Given the description of an element on the screen output the (x, y) to click on. 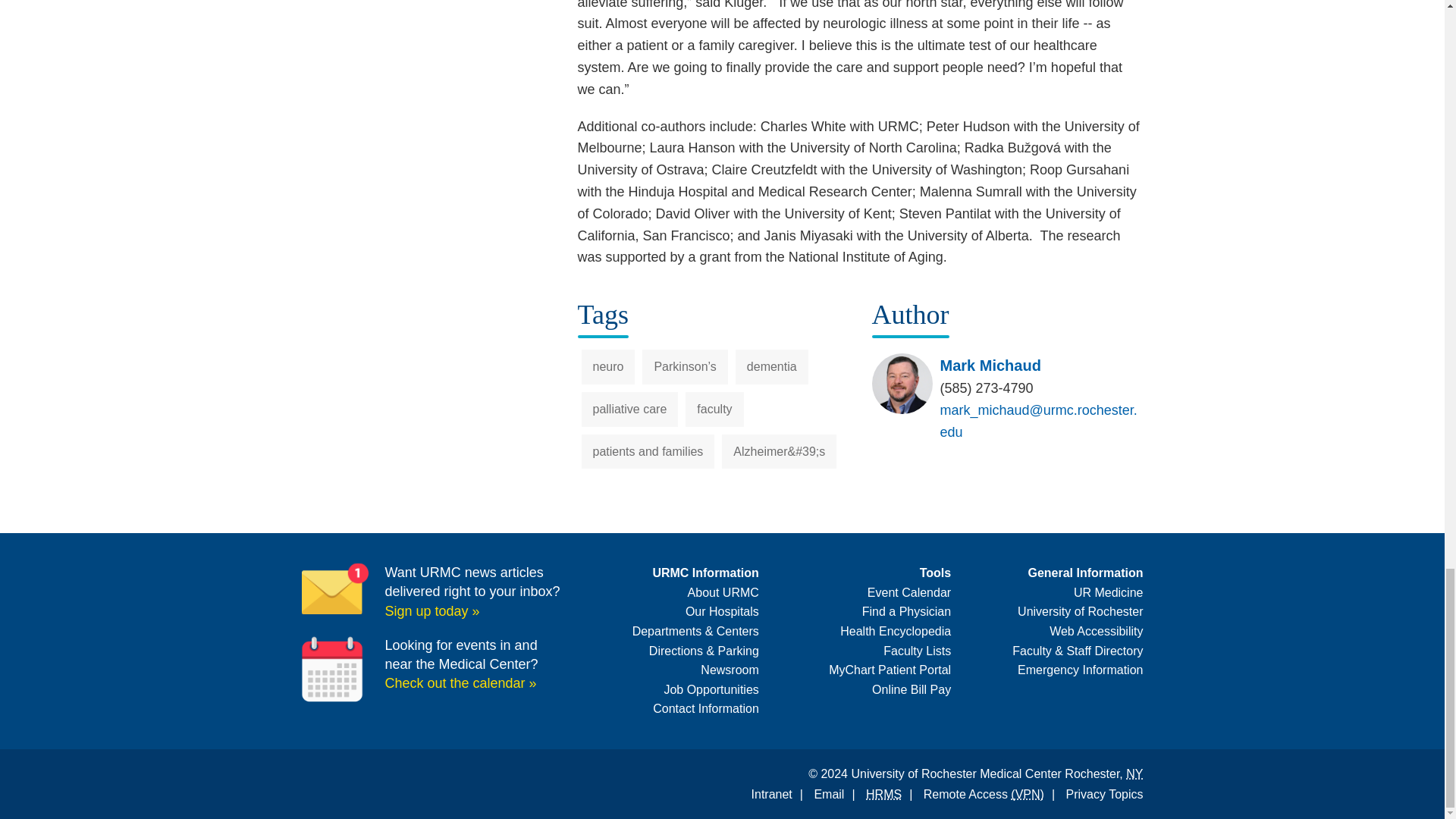
patients and families (647, 451)
palliative care (629, 409)
faculty (713, 409)
Virtual Private Network (1026, 793)
dementia (771, 366)
New York (1133, 773)
neuro (607, 366)
Human Resources Management System (883, 793)
